Given the description of an element on the screen output the (x, y) to click on. 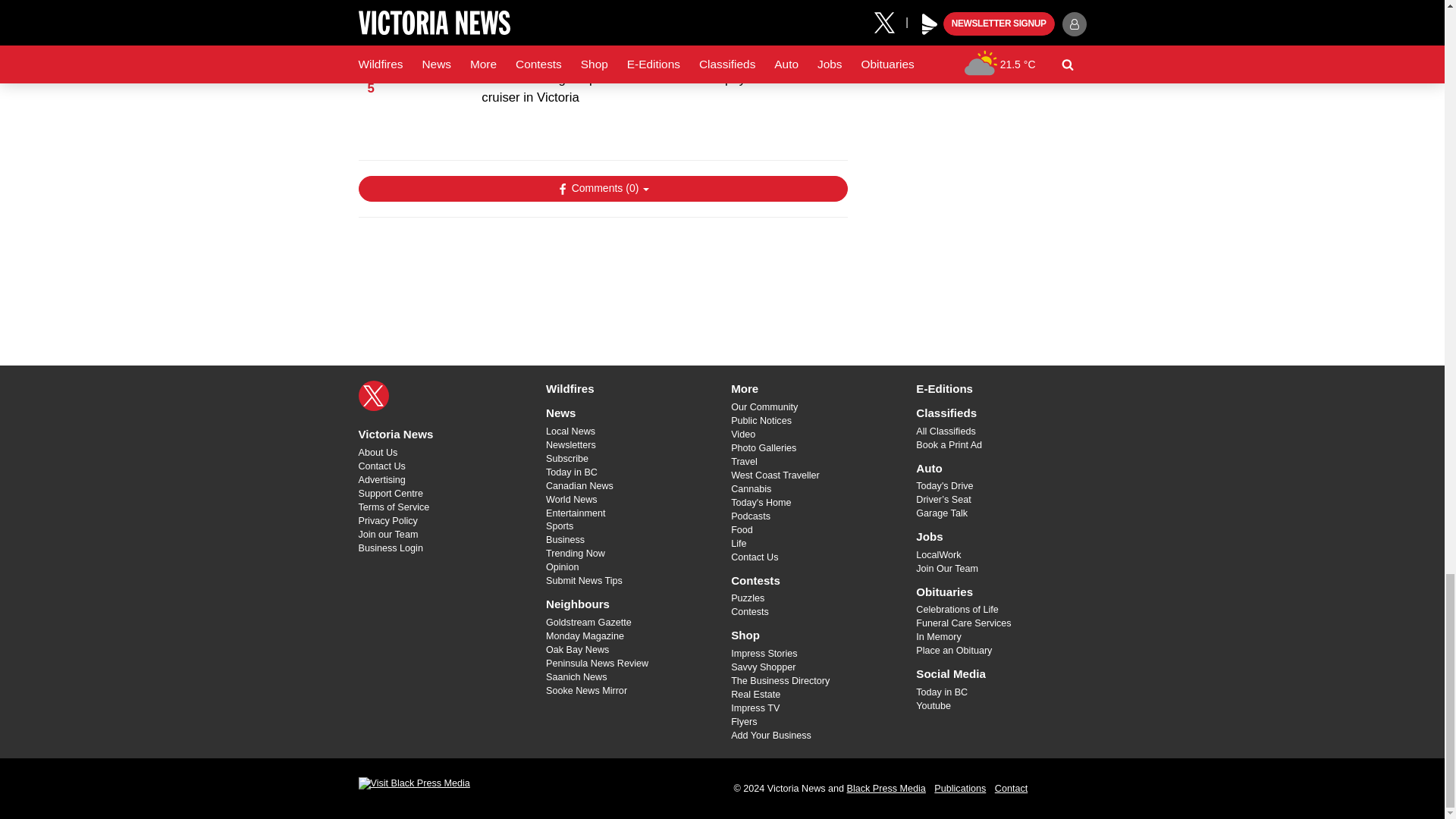
Show Comments (602, 188)
X (373, 395)
